Given the description of an element on the screen output the (x, y) to click on. 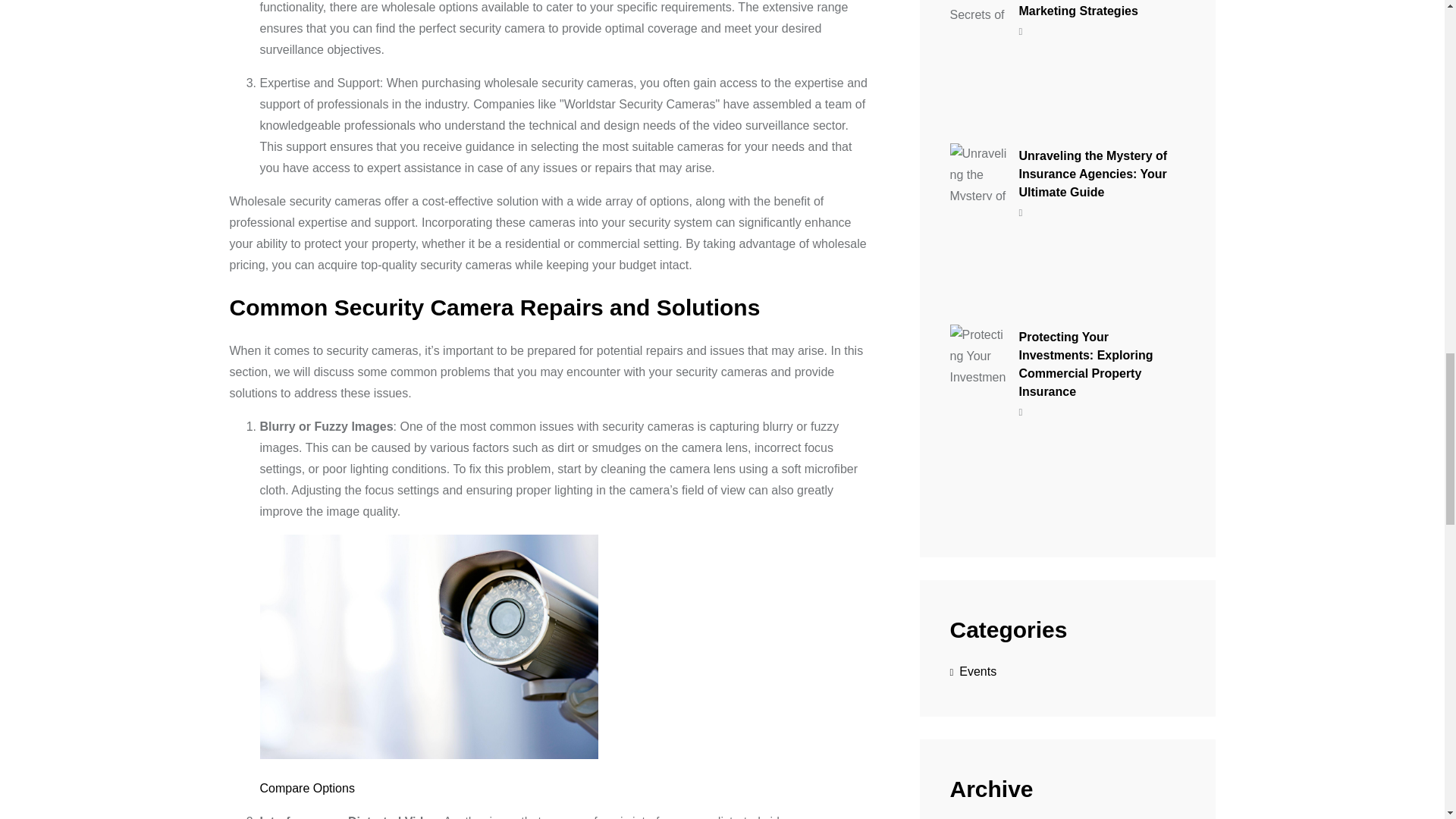
Compare Options (306, 788)
Events (972, 671)
July 2024 (979, 818)
